Given the description of an element on the screen output the (x, y) to click on. 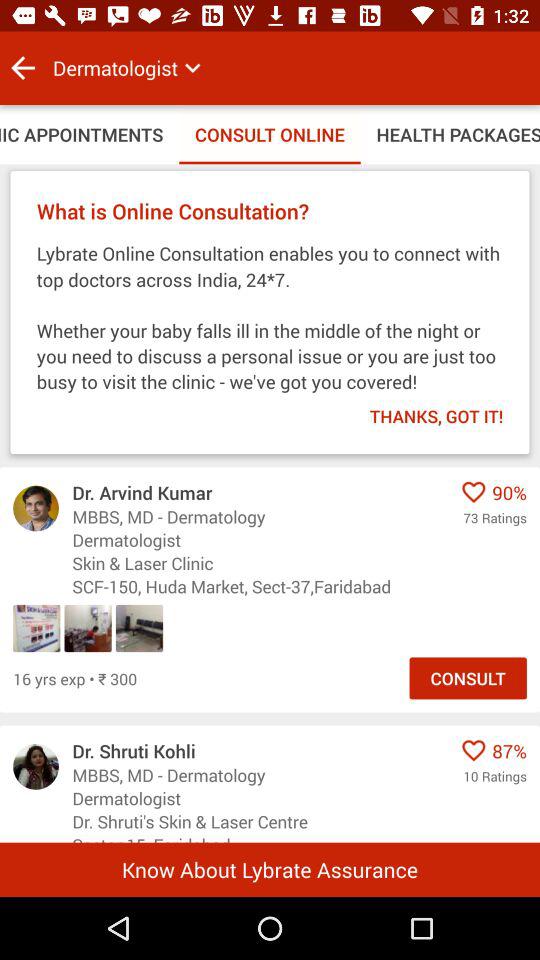
choose the item below lybrate online consultation item (423, 410)
